Given the description of an element on the screen output the (x, y) to click on. 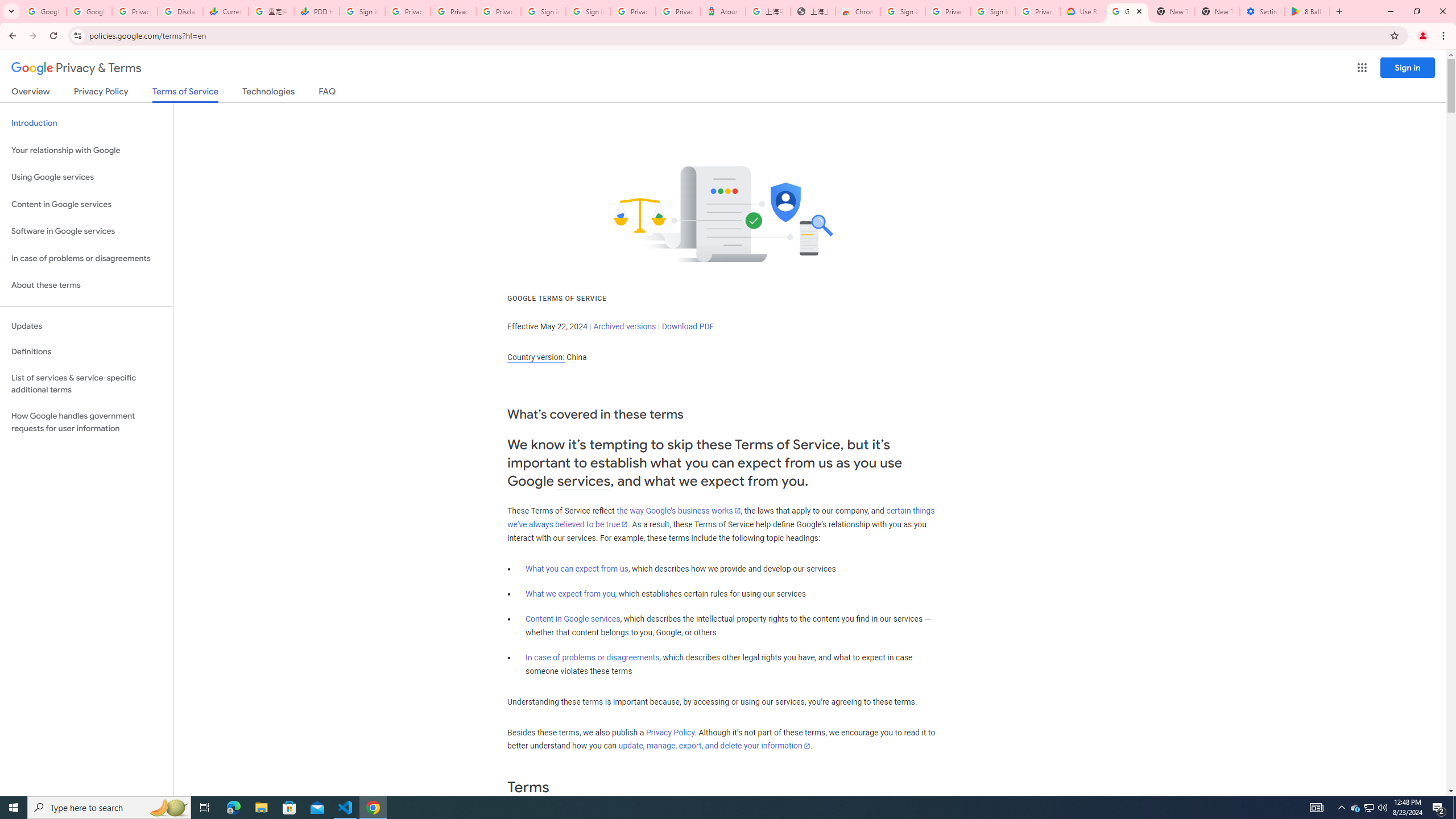
Settings - System (1262, 11)
Introduction (86, 122)
Chrome Web Store - Color themes by Chrome (857, 11)
About these terms (86, 284)
Sign in (1407, 67)
Google Workspace Admin Community (43, 11)
FAQ (327, 93)
New Tab (1216, 11)
